Given the description of an element on the screen output the (x, y) to click on. 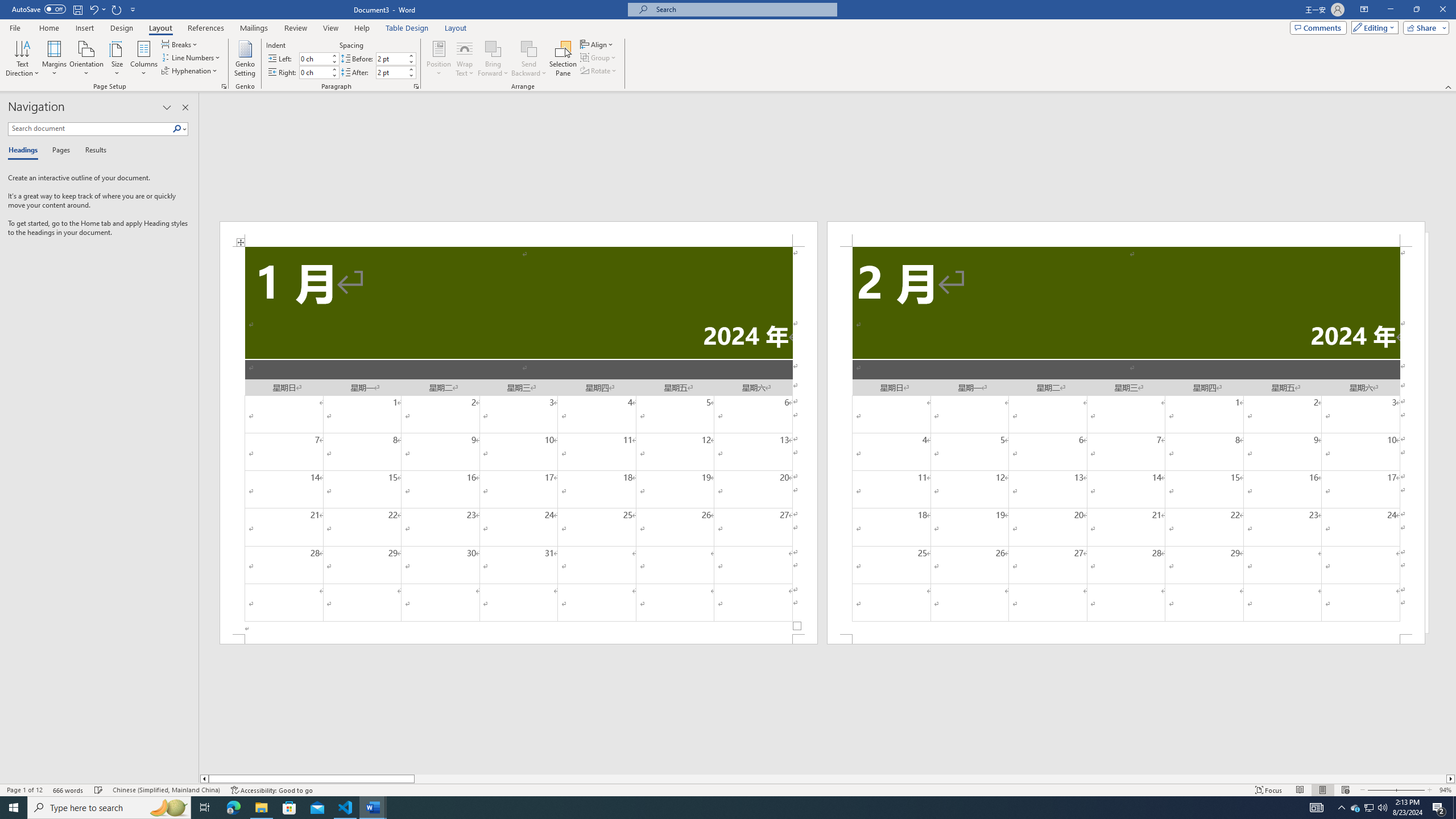
Column right (1450, 778)
Less (411, 75)
Rotate (599, 69)
Spacing After (391, 72)
Orientation (86, 58)
